Given the description of an element on the screen output the (x, y) to click on. 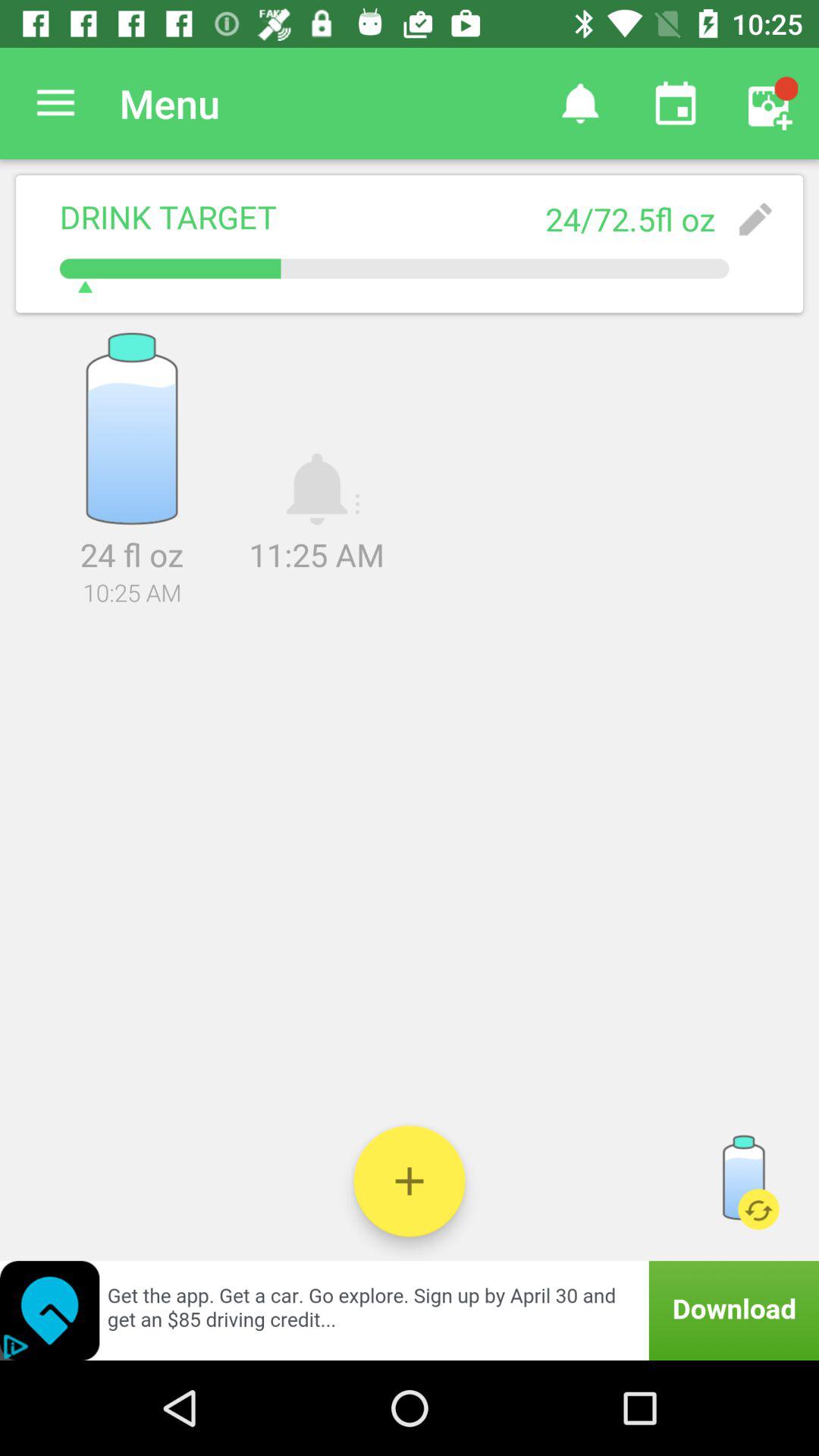
tap the item to the right of menu icon (579, 103)
